Given the description of an element on the screen output the (x, y) to click on. 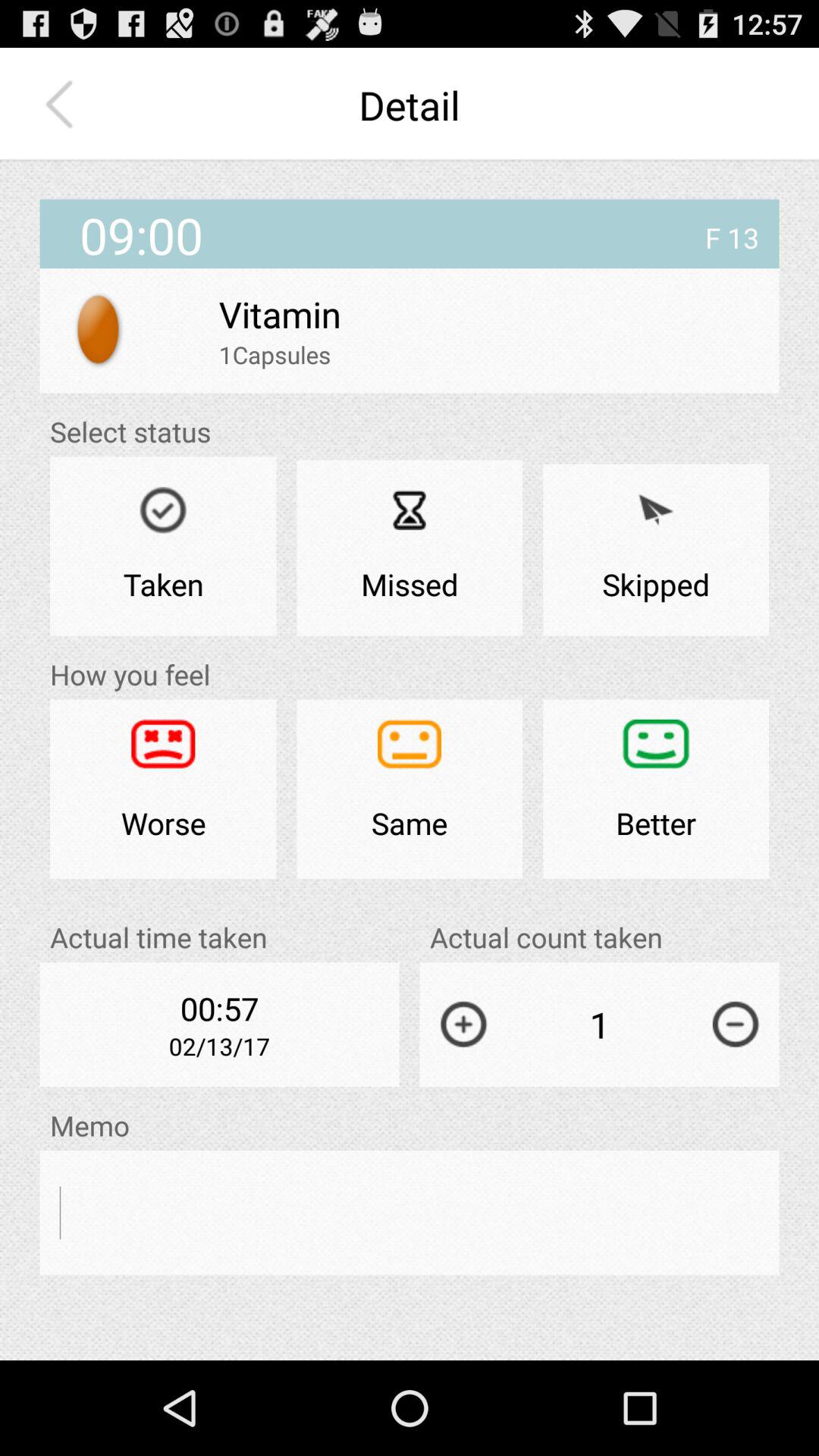
click the radio button to the right of the worse radio button (409, 788)
